Given the description of an element on the screen output the (x, y) to click on. 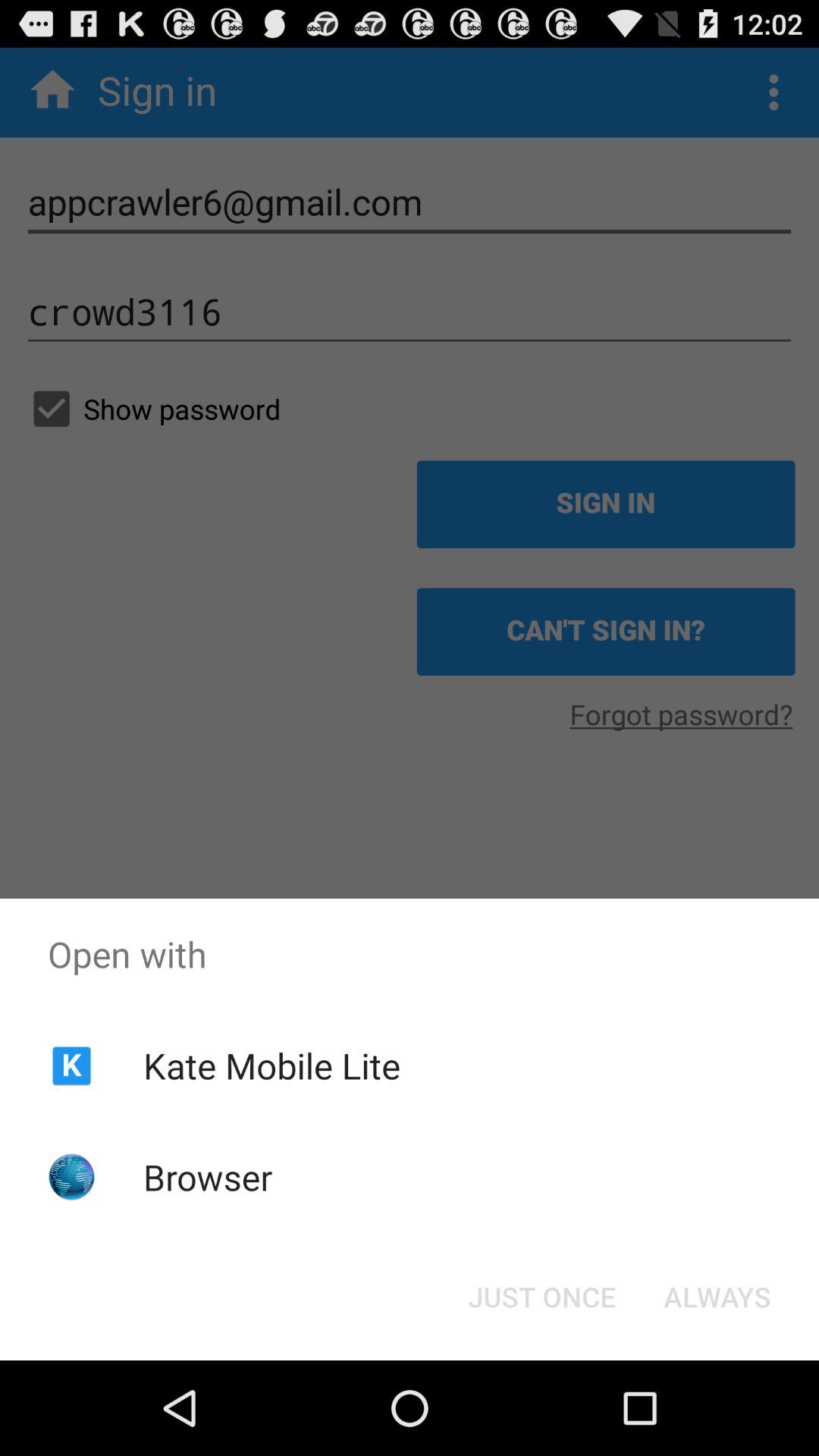
launch the app above browser icon (271, 1065)
